Given the description of an element on the screen output the (x, y) to click on. 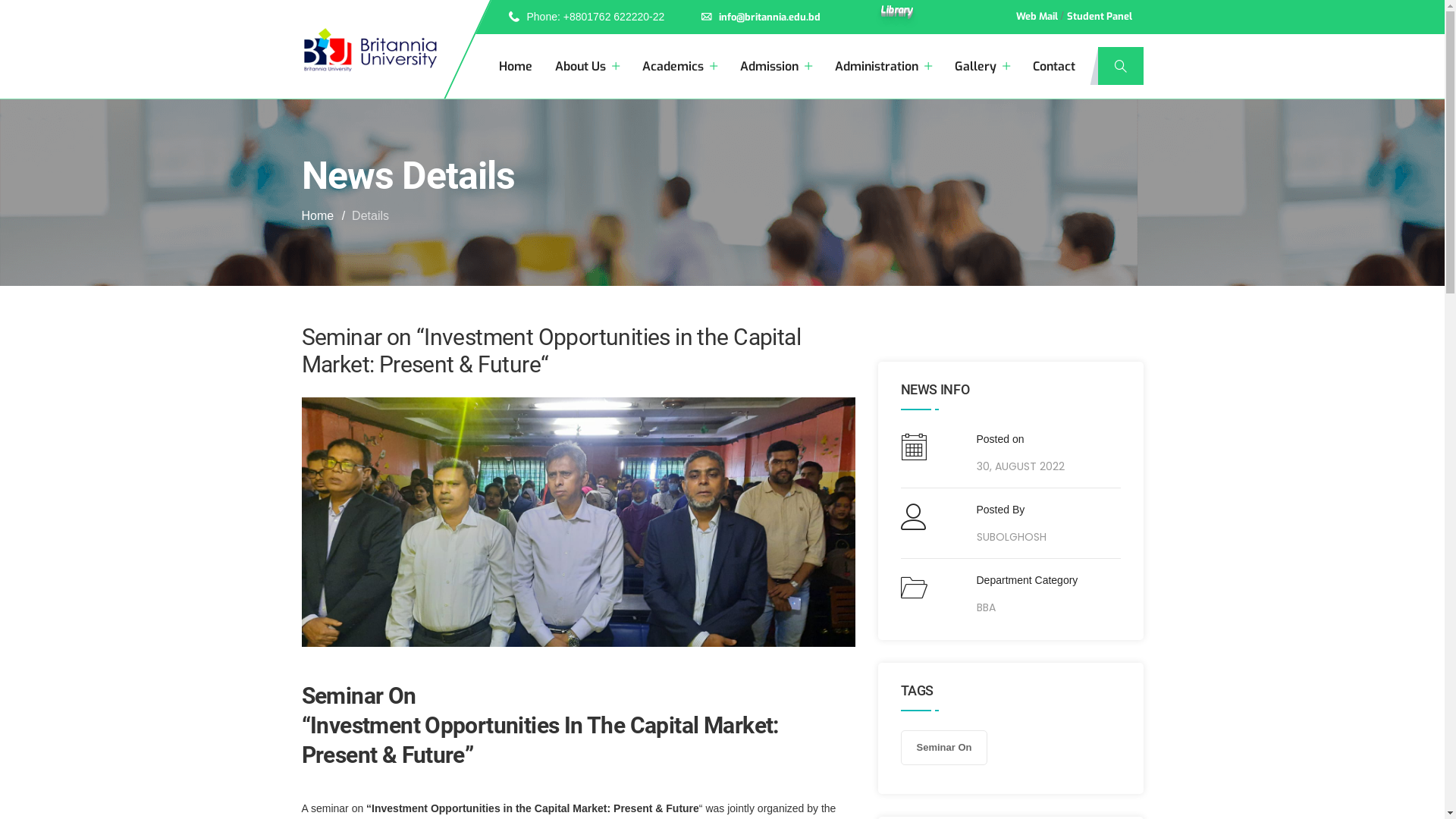
Academics Element type: text (678, 66)
Home Element type: text (317, 215)
Gallery Element type: text (981, 66)
info@britannia.edu.bd Element type: text (760, 17)
Posted By Element type: text (1011, 509)
Department Category Element type: text (1027, 579)
Library Element type: text (896, 12)
Posted on Element type: text (1020, 438)
Contact Element type: text (1053, 66)
Web Mail Element type: text (1036, 15)
Home Element type: text (515, 66)
Seminar On Element type: text (944, 747)
About Us Element type: text (587, 66)
Admission Element type: text (776, 66)
Administration Element type: text (882, 66)
Student Panel Element type: text (1098, 15)
